Given the description of an element on the screen output the (x, y) to click on. 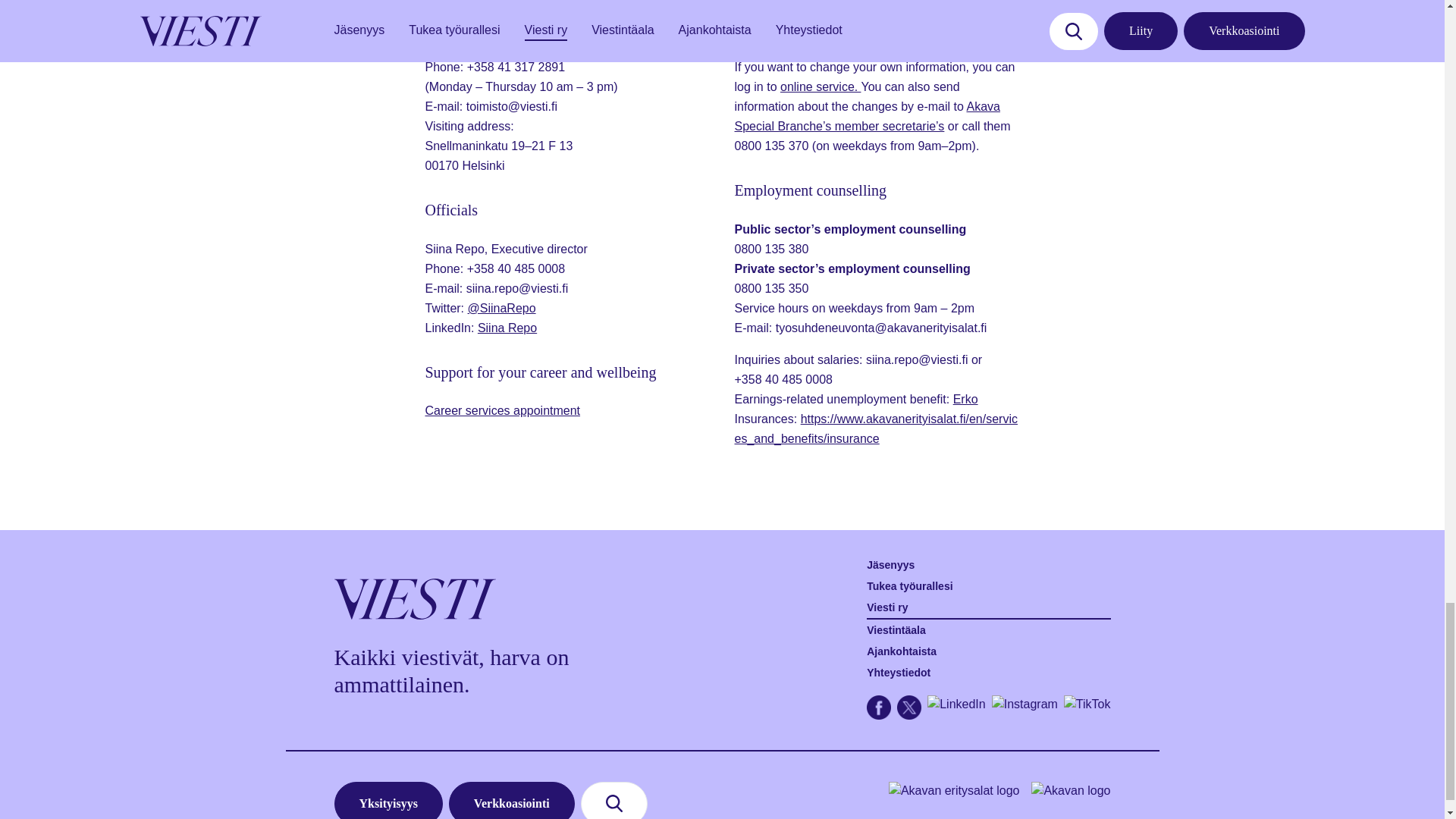
Siina Repo (507, 327)
online service.  (820, 86)
Career services appointment (502, 410)
